Given the description of an element on the screen output the (x, y) to click on. 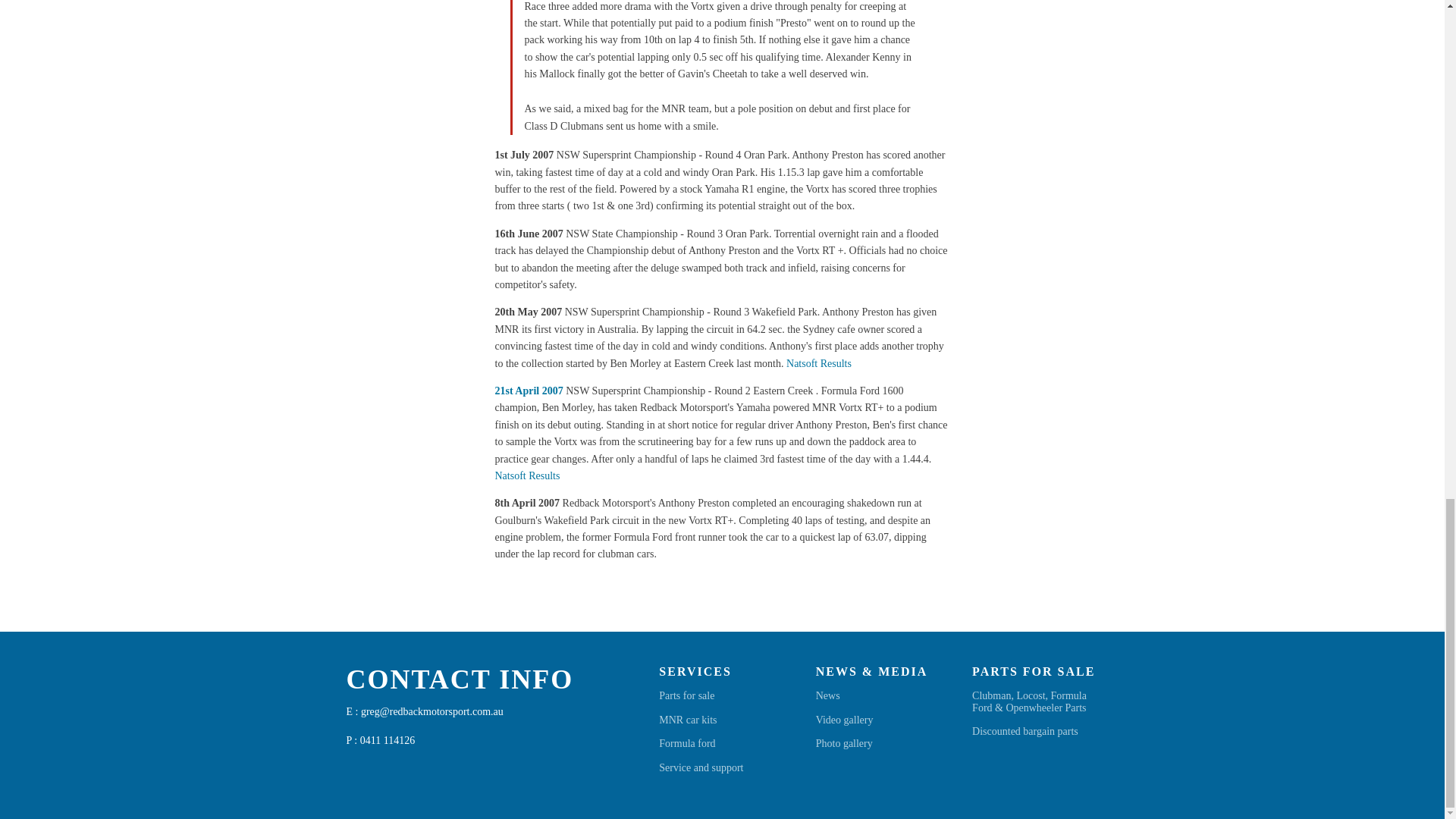
News (827, 695)
Natsoft Results (527, 475)
Discounted bargain parts (1025, 731)
Parts for sale (686, 695)
MNR car kits (687, 719)
21st April 2007 (528, 390)
Service and support (700, 767)
Video gallery (844, 719)
Formula ford (686, 743)
Natsoft Results (818, 363)
Photo gallery (843, 743)
